Given the description of an element on the screen output the (x, y) to click on. 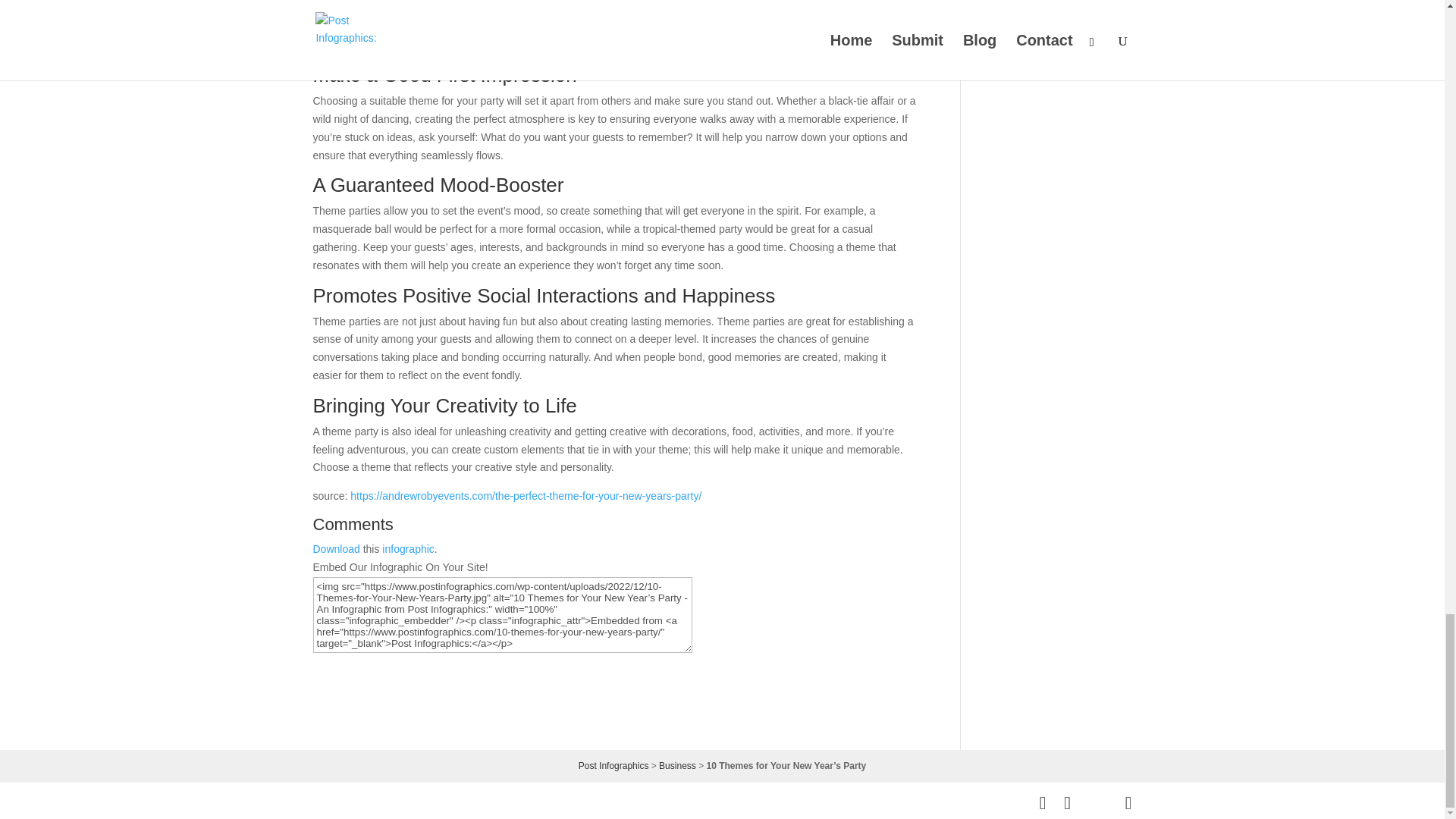
infographic (407, 548)
Download (336, 548)
infographic (407, 548)
100 (401, 584)
